Given the description of an element on the screen output the (x, y) to click on. 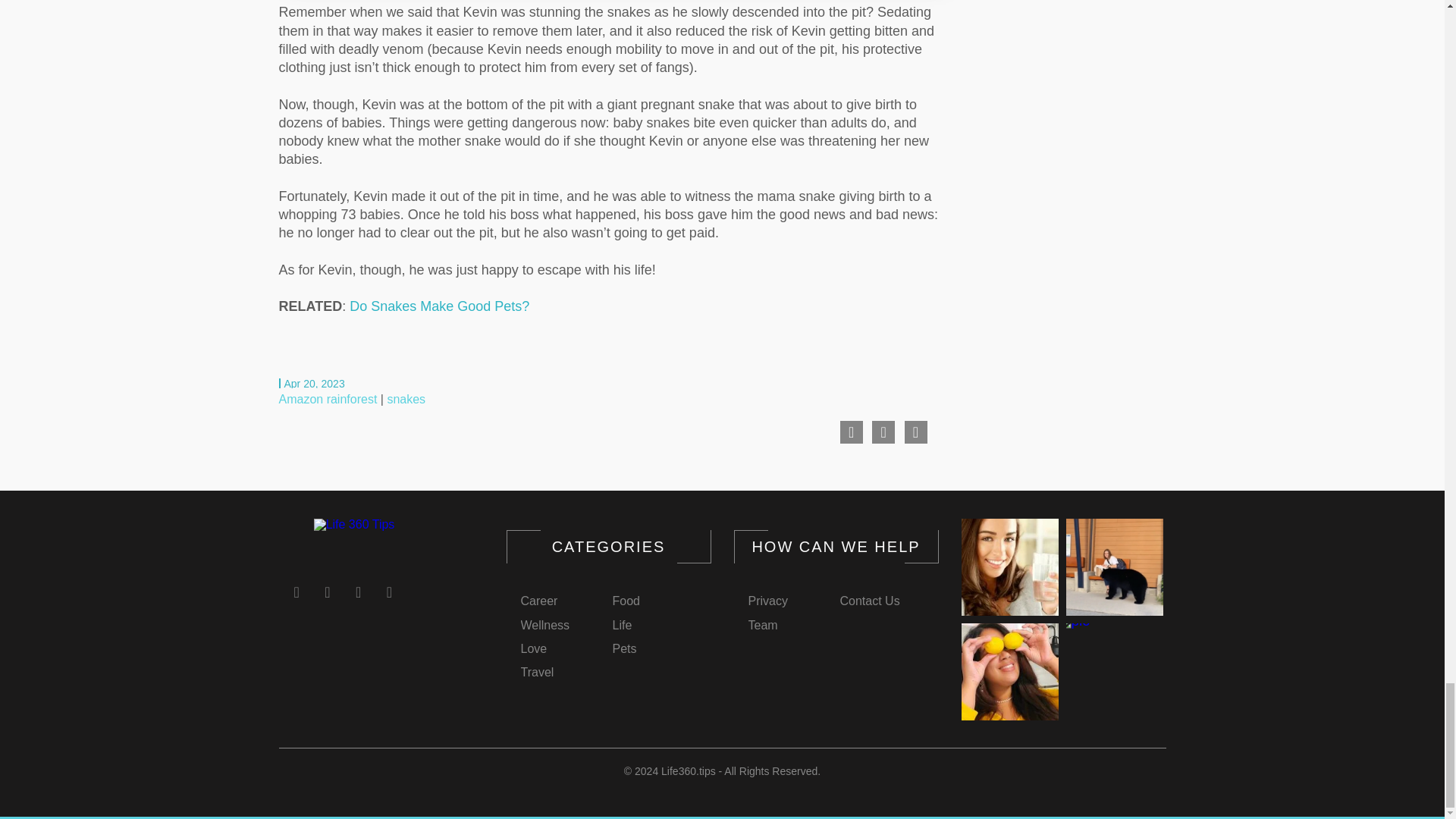
Wellness (544, 625)
Career (538, 601)
Amazon rainforest (328, 399)
Food (626, 601)
snakes (406, 399)
Life (621, 625)
Travel (536, 672)
Love (533, 649)
Do Snakes Make Good Pets? (439, 306)
Privacy (767, 601)
